Given the description of an element on the screen output the (x, y) to click on. 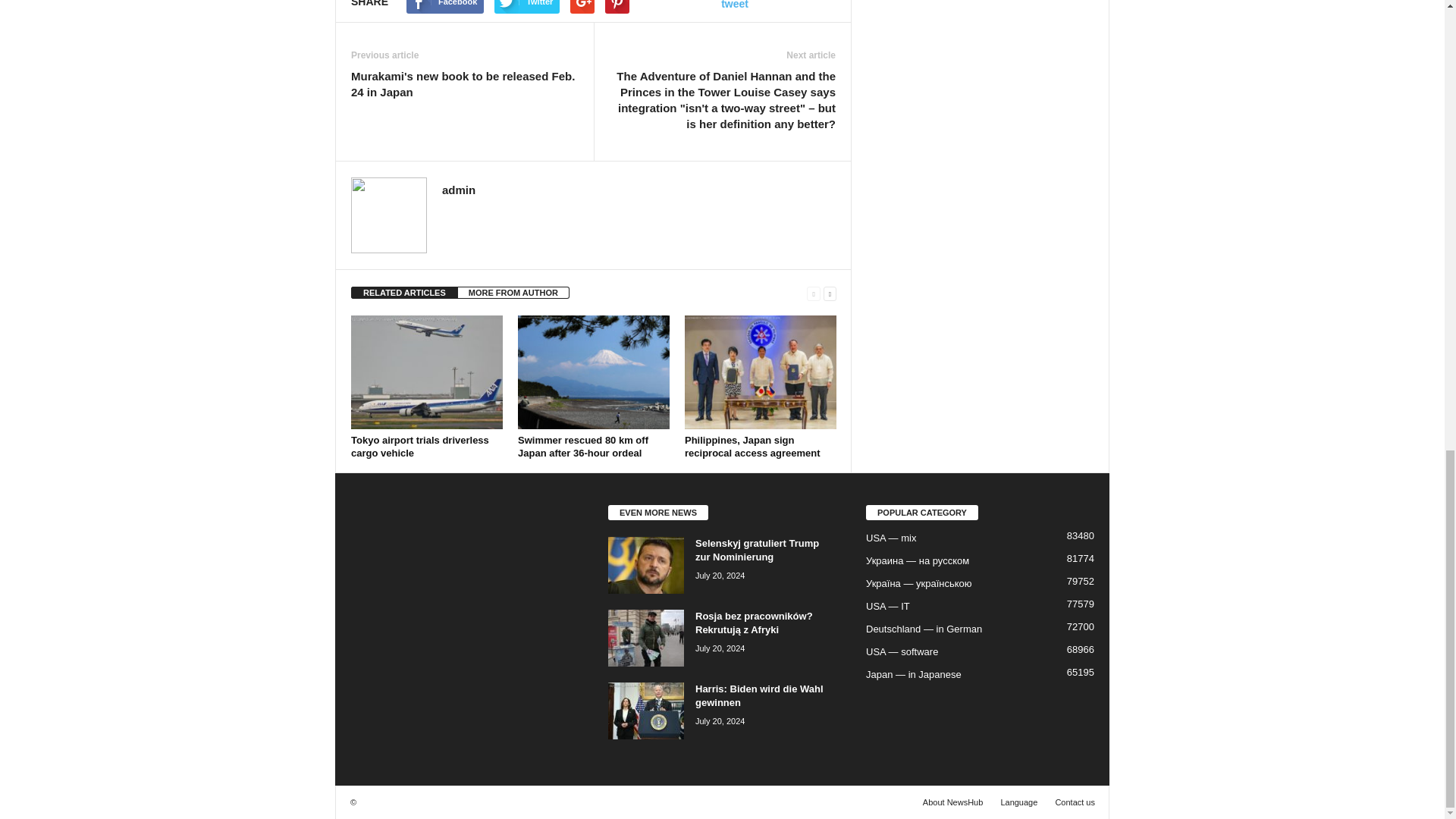
Tokyo airport trials driverless cargo vehicle (426, 372)
Swimmer rescued 80 km off Japan after 36-hour ordeal (593, 372)
Tokyo airport trials driverless cargo vehicle (419, 446)
